Given the description of an element on the screen output the (x, y) to click on. 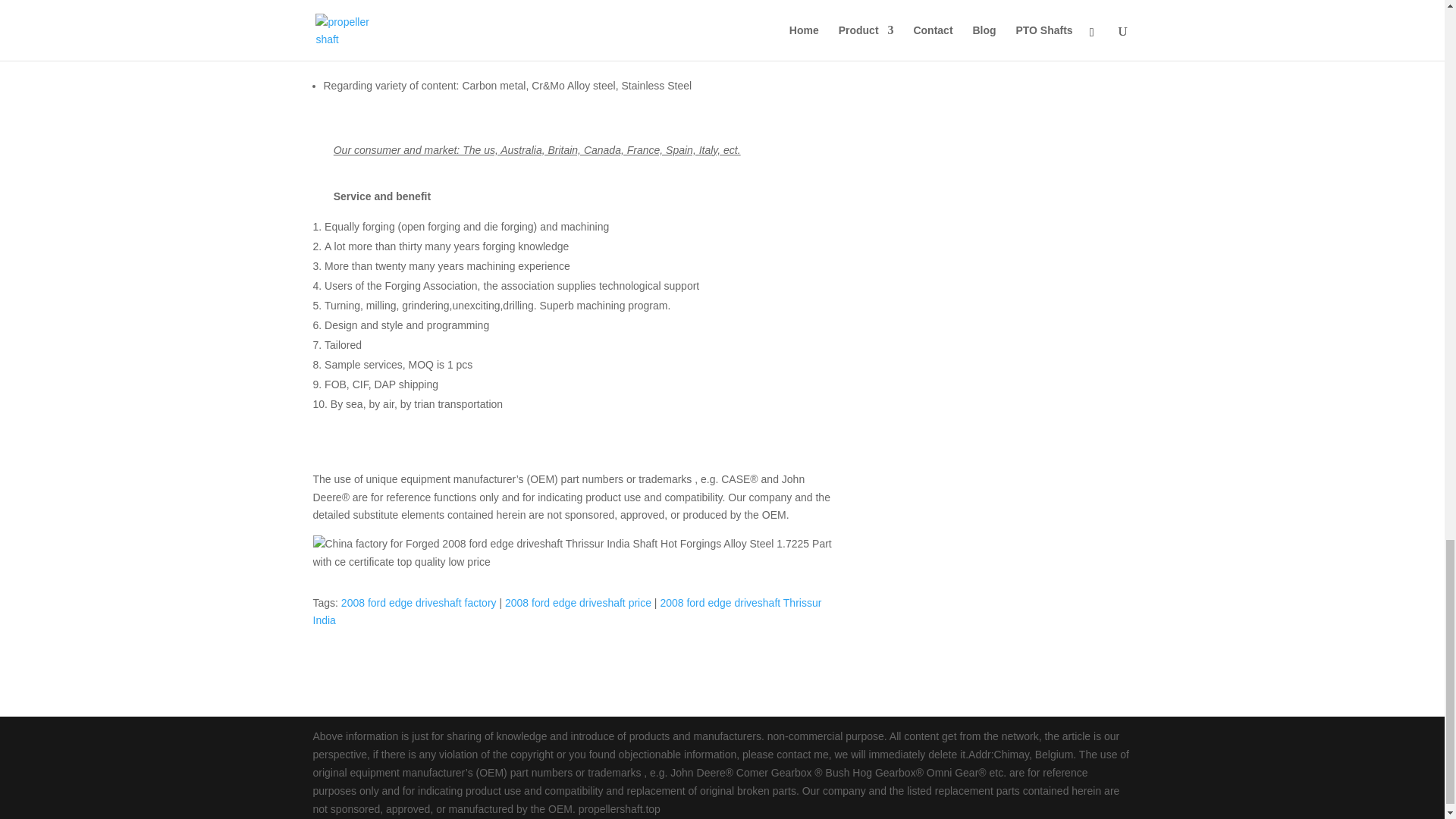
2008 ford edge driveshaft price (577, 603)
2008 ford edge driveshaft Thrissur India (567, 612)
2008 ford edge driveshaft factory (418, 603)
